Given the description of an element on the screen output the (x, y) to click on. 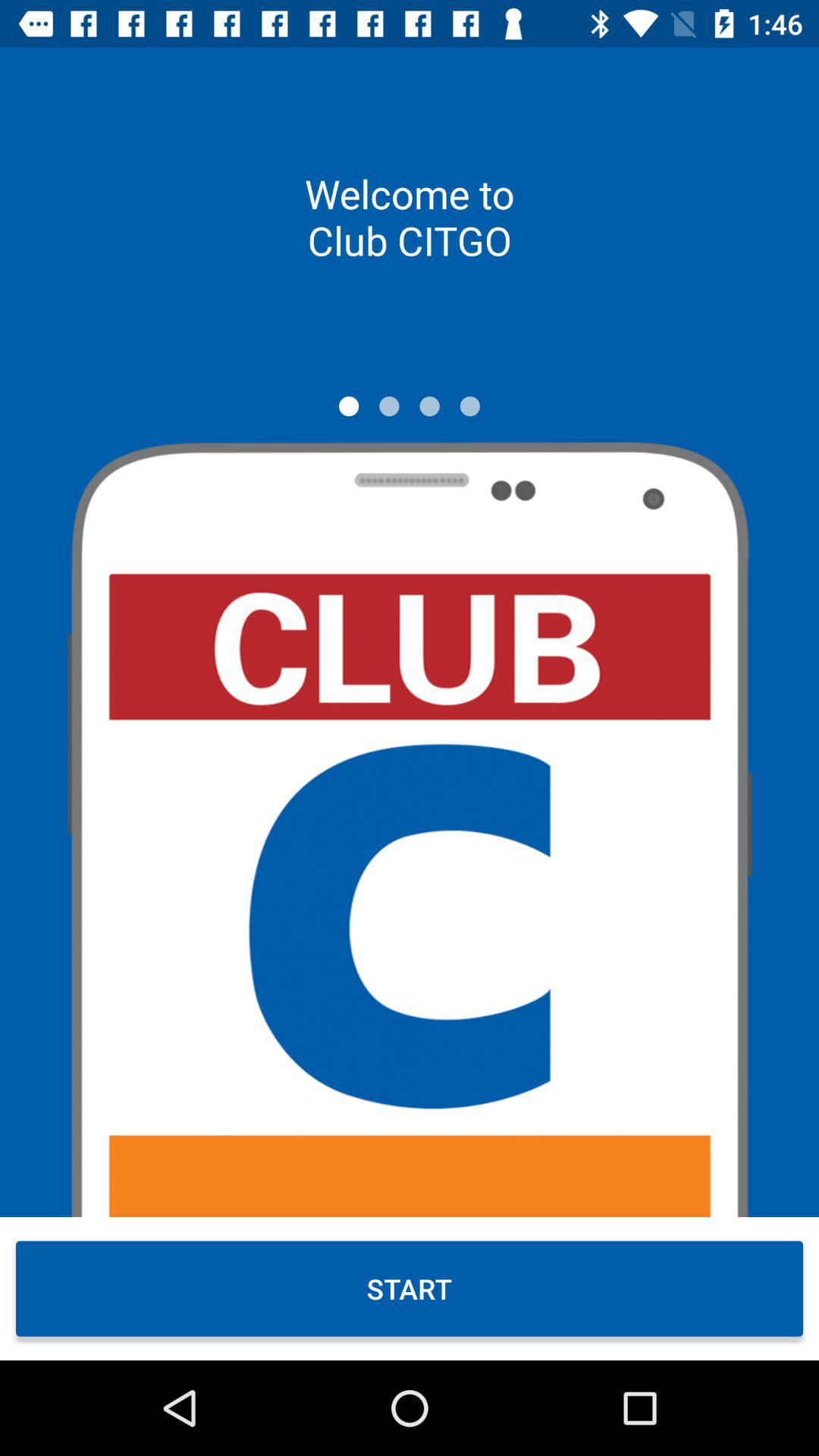
page one (348, 406)
